Given the description of an element on the screen output the (x, y) to click on. 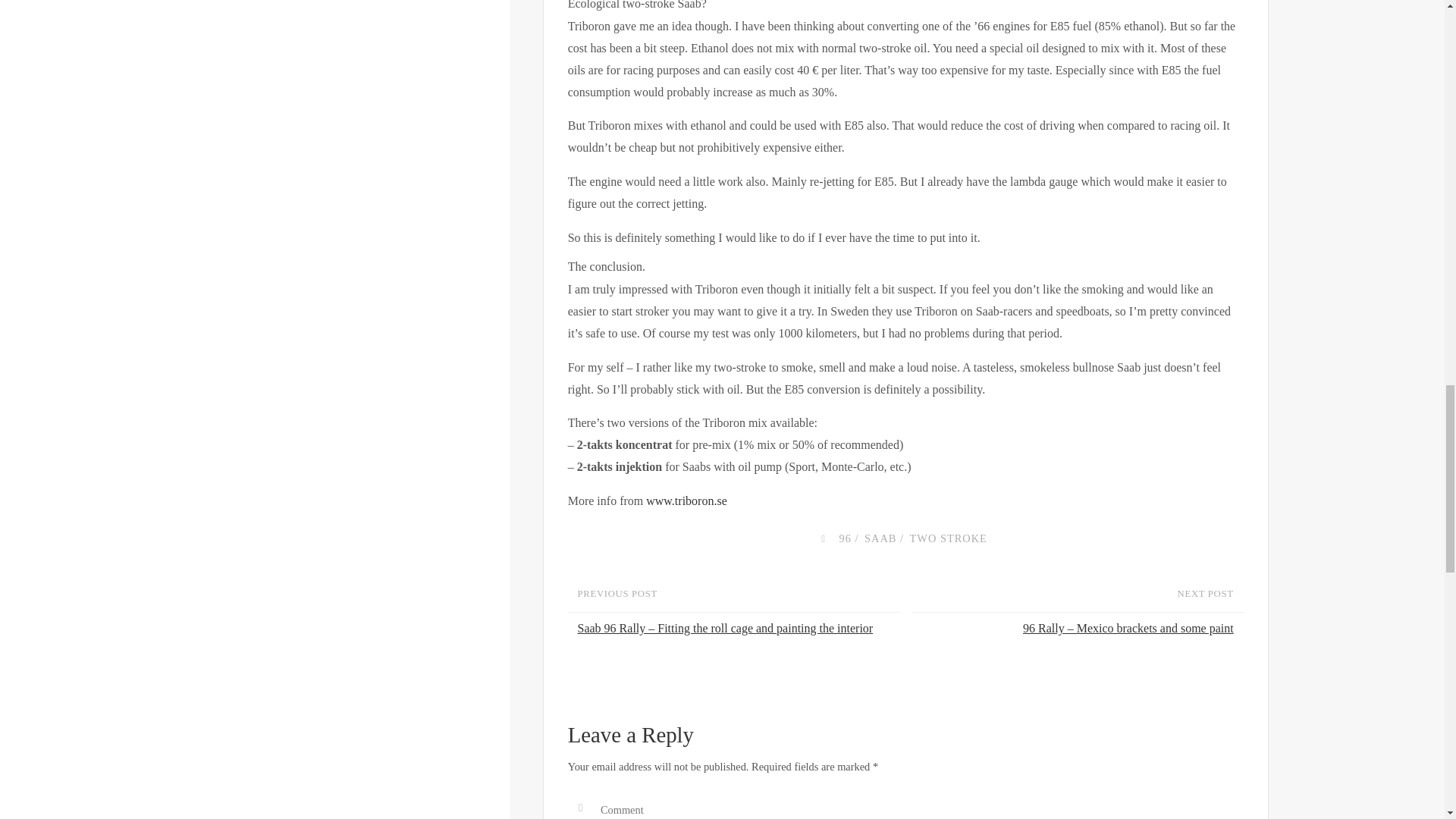
TWO STROKE (947, 538)
Tagged (822, 538)
SAAB (878, 538)
www.triboron.se (686, 500)
96 (844, 538)
